Given the description of an element on the screen output the (x, y) to click on. 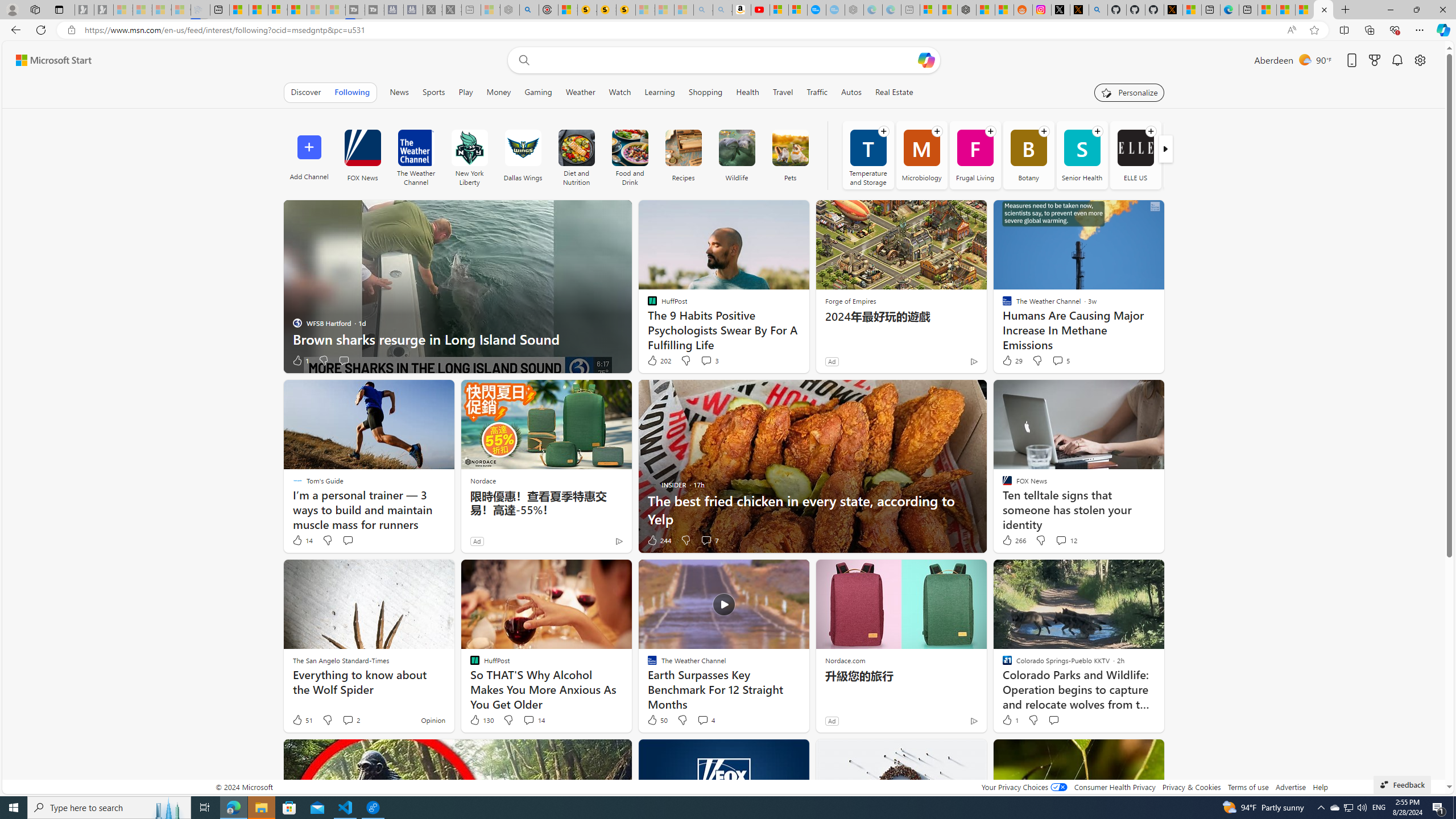
Travel (782, 92)
help.x.com | 524: A timeout occurred (1079, 9)
Wildlife (736, 155)
The Weather Channel (415, 147)
1 Like (1009, 719)
Autos (851, 92)
Real Estate (893, 92)
View comments 14 Comment (533, 719)
Enter your search term (726, 59)
Food and Drink (629, 147)
Streaming Coverage | T3 - Sleeping (354, 9)
Watch (619, 92)
